Given the description of an element on the screen output the (x, y) to click on. 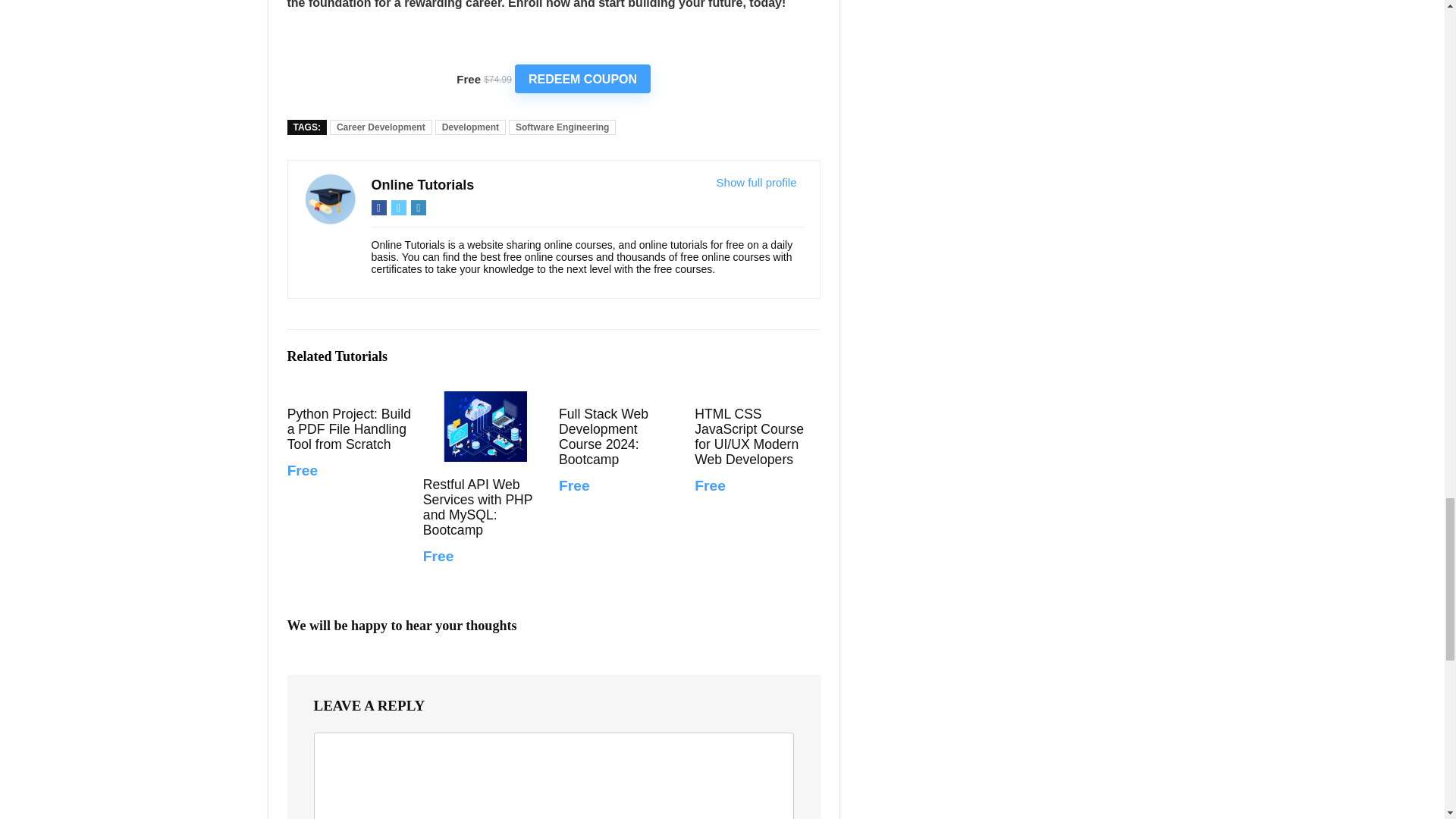
Restful API Web Services with PHP and MySQL: Bootcamp (485, 426)
